Given the description of an element on the screen output the (x, y) to click on. 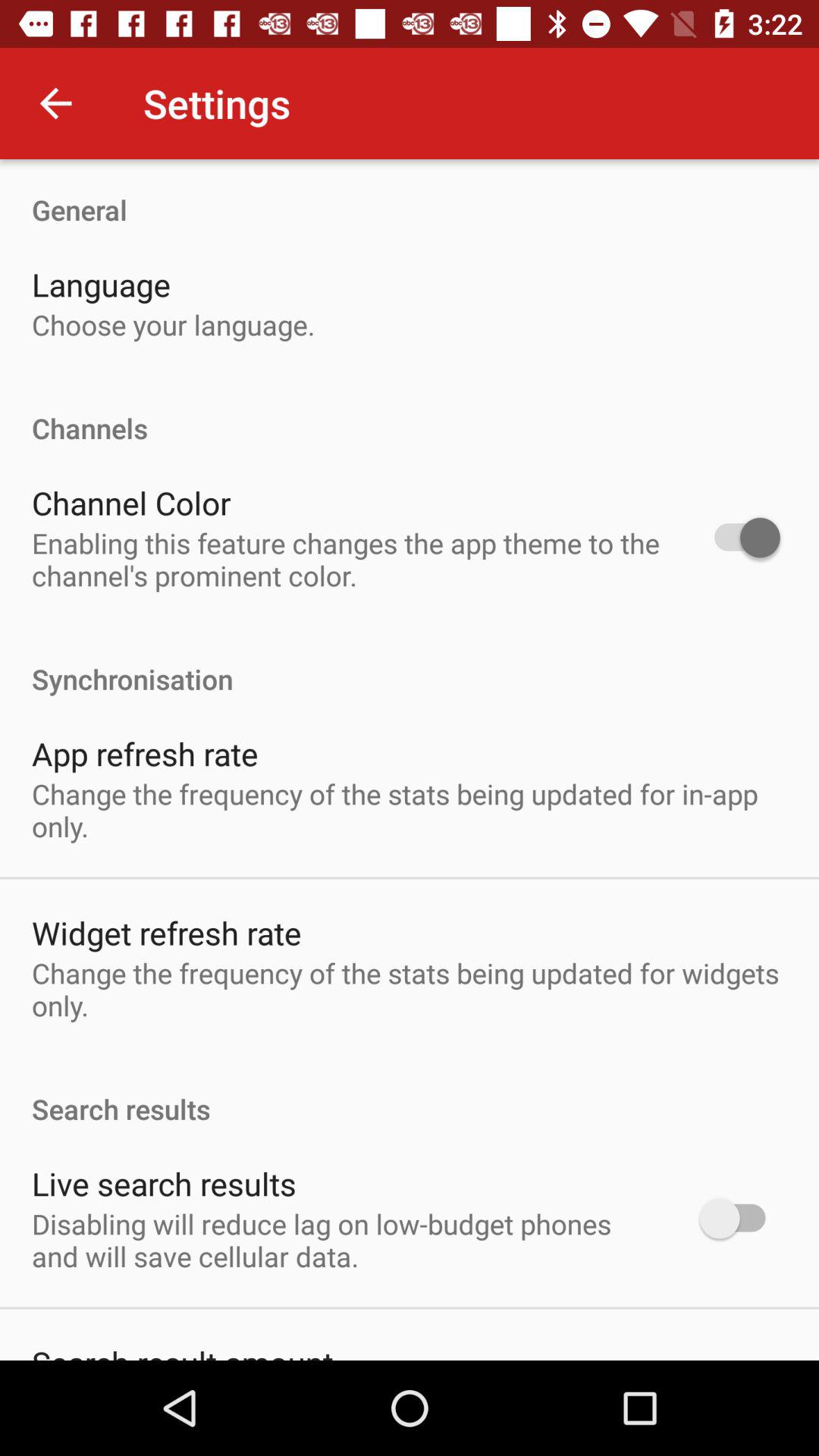
click the item next to the settings item (55, 103)
